Given the description of an element on the screen output the (x, y) to click on. 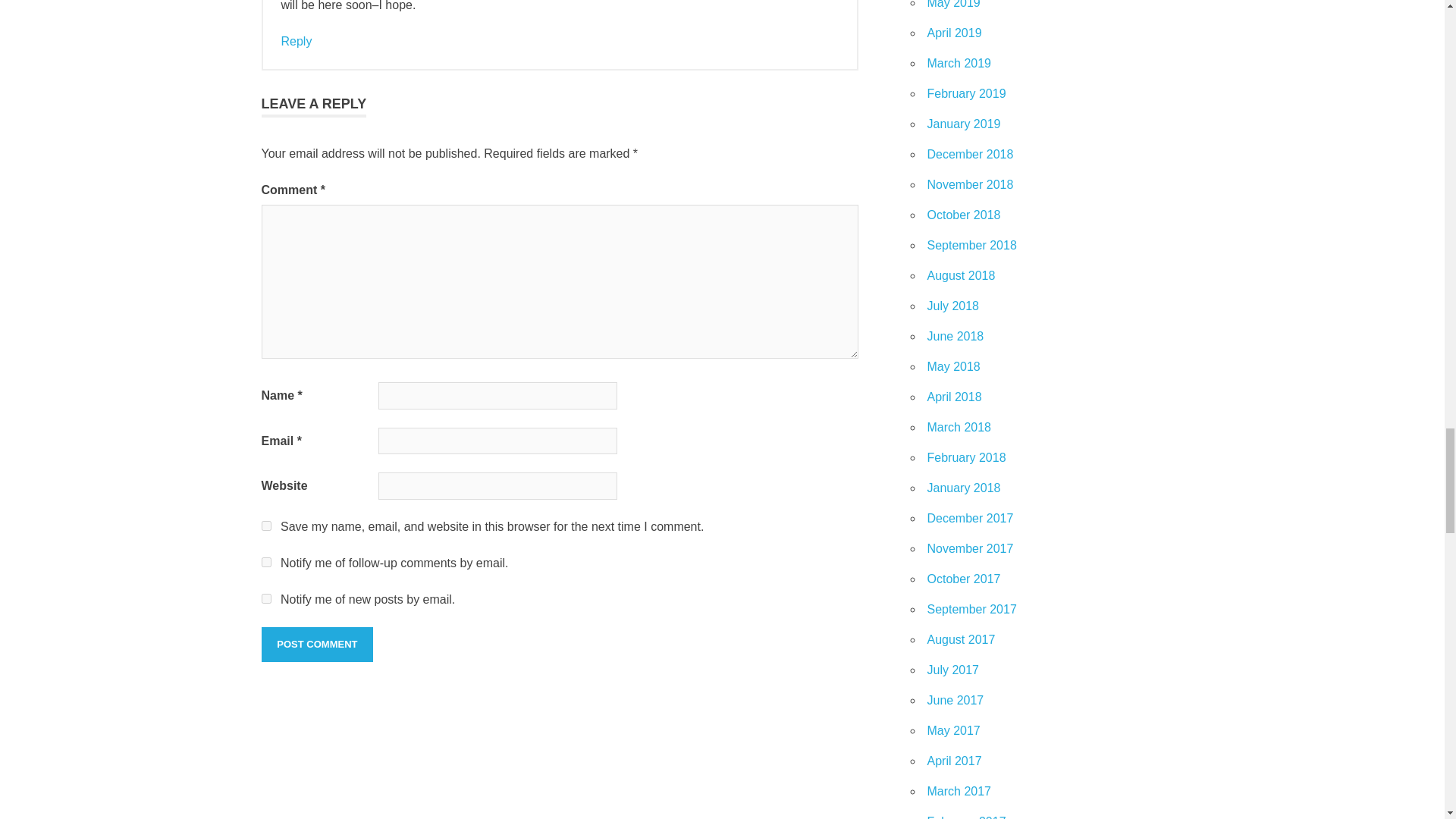
subscribe (265, 562)
Post Comment (316, 644)
yes (265, 525)
subscribe (265, 598)
Post Comment (316, 644)
Reply (296, 41)
